Given the description of an element on the screen output the (x, y) to click on. 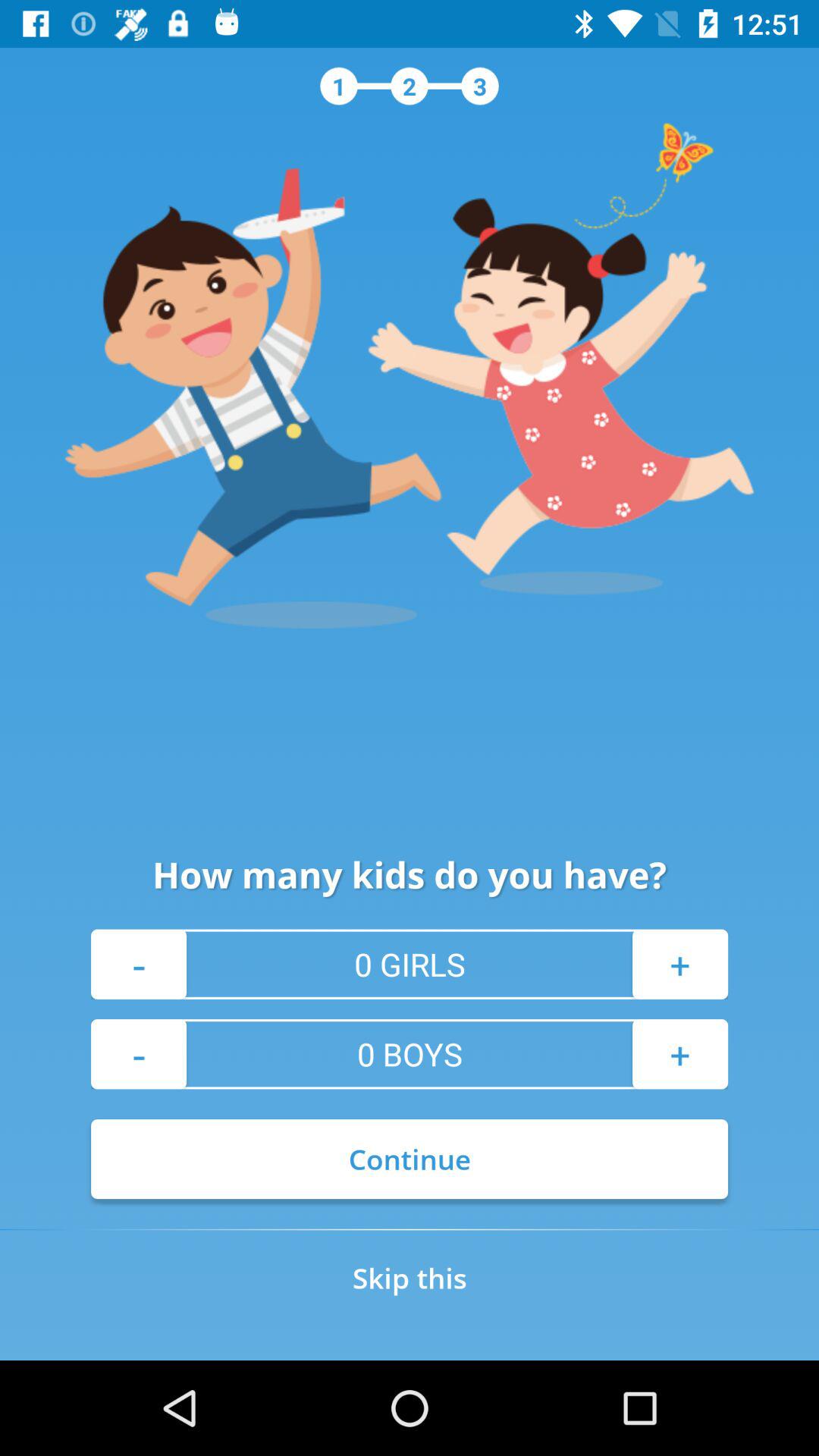
tap icon to the left of 0 girls icon (138, 964)
